Given the description of an element on the screen output the (x, y) to click on. 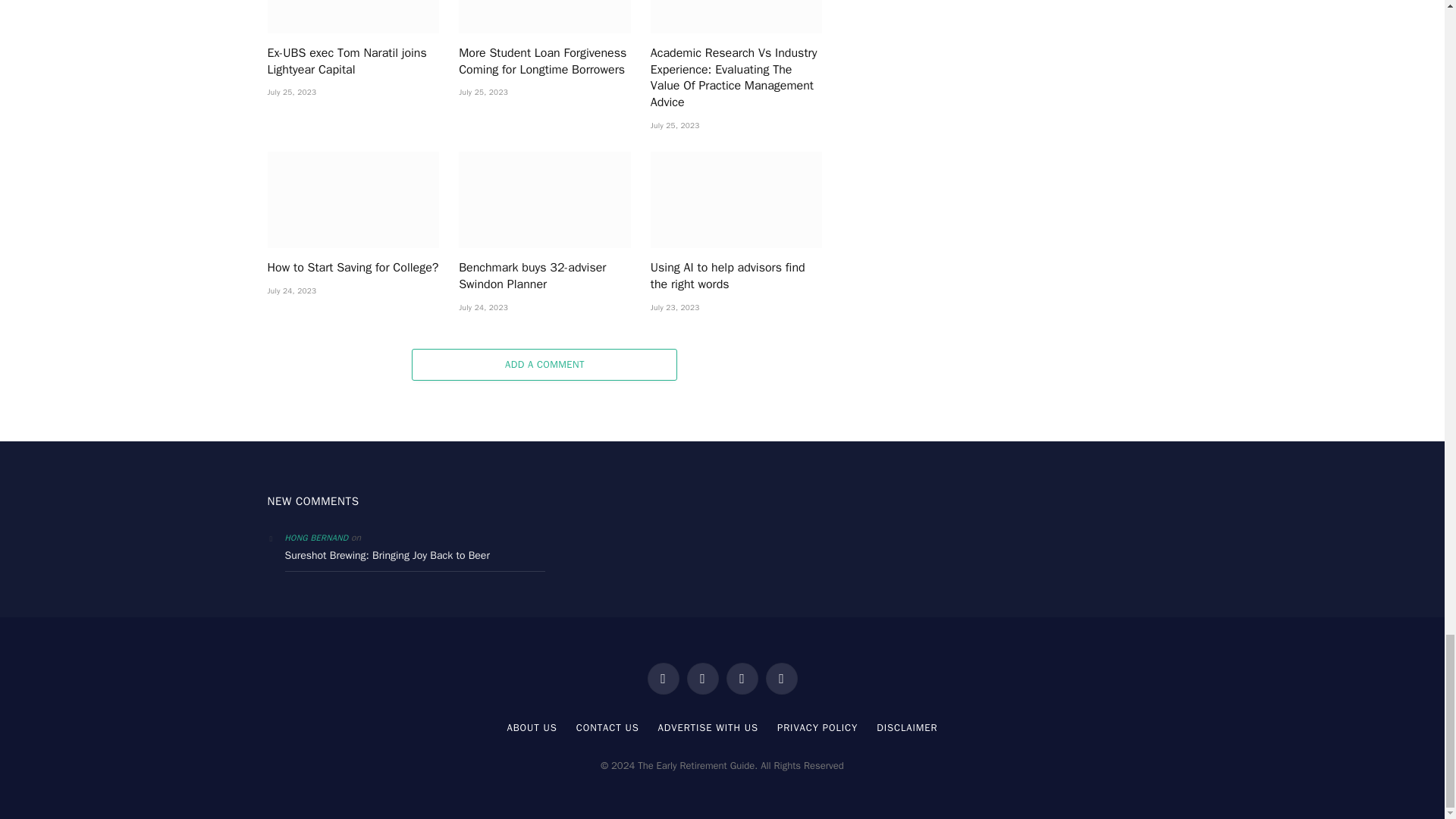
Ex-UBS exec Tom Naratil joins Lightyear Capital (352, 16)
More Student Loan Forgiveness Coming for Longtime Borrowers (544, 16)
